Given the description of an element on the screen output the (x, y) to click on. 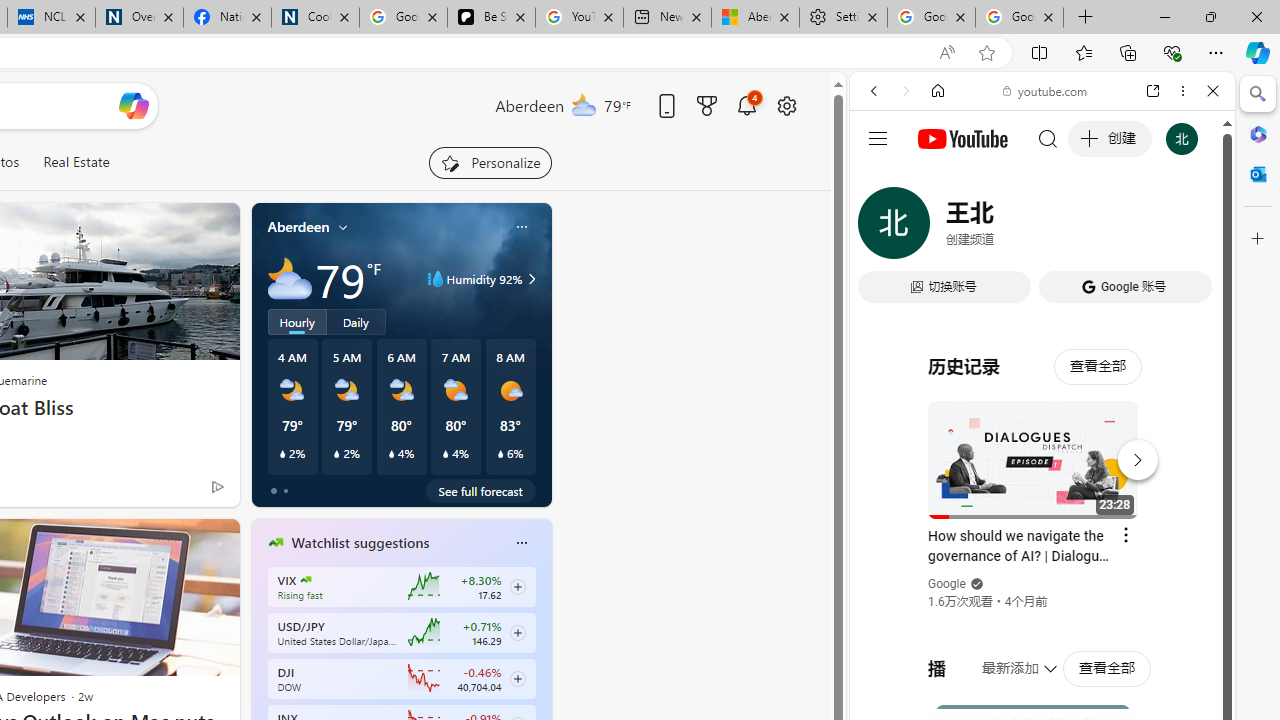
Trailer #2 [HD] (1042, 592)
YouTube (1034, 296)
Forward (906, 91)
CBOE Market Volatility Index (306, 579)
Trailer #2 [HD] (1042, 594)
IMAGES (939, 228)
Class: weather-arrow-glyph (531, 278)
Search Filter, Search Tools (1093, 228)
Show More Music (1164, 546)
Aberdeen (298, 227)
